Given the description of an element on the screen output the (x, y) to click on. 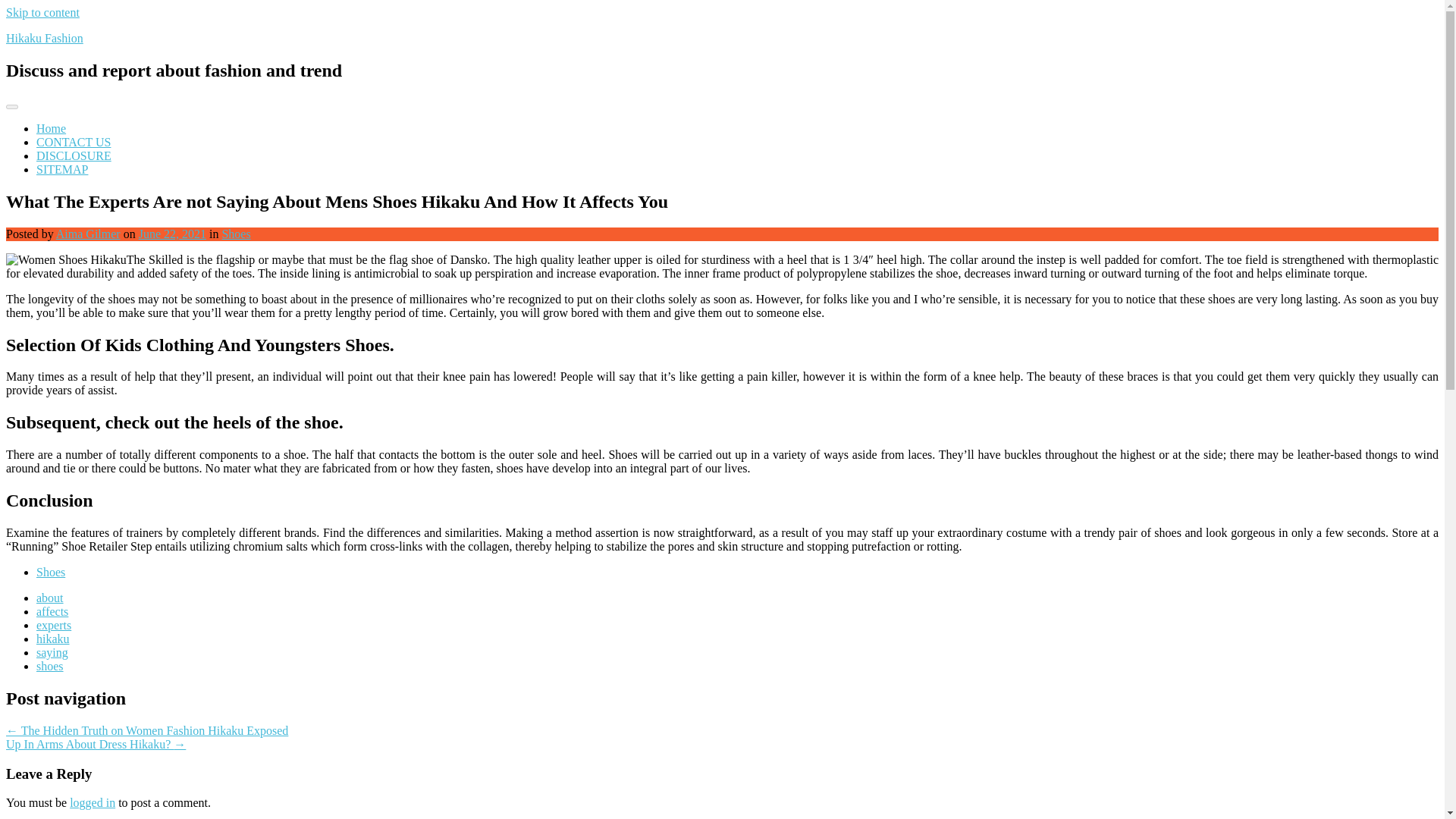
logged in (92, 802)
Home (50, 128)
hikaku (52, 638)
Shoes (50, 571)
Hikaku Fashion (43, 38)
Aima Gilmer (88, 233)
saying (52, 652)
affects (52, 611)
Skip to content (42, 11)
June 22, 2021 (172, 233)
